Given the description of an element on the screen output the (x, y) to click on. 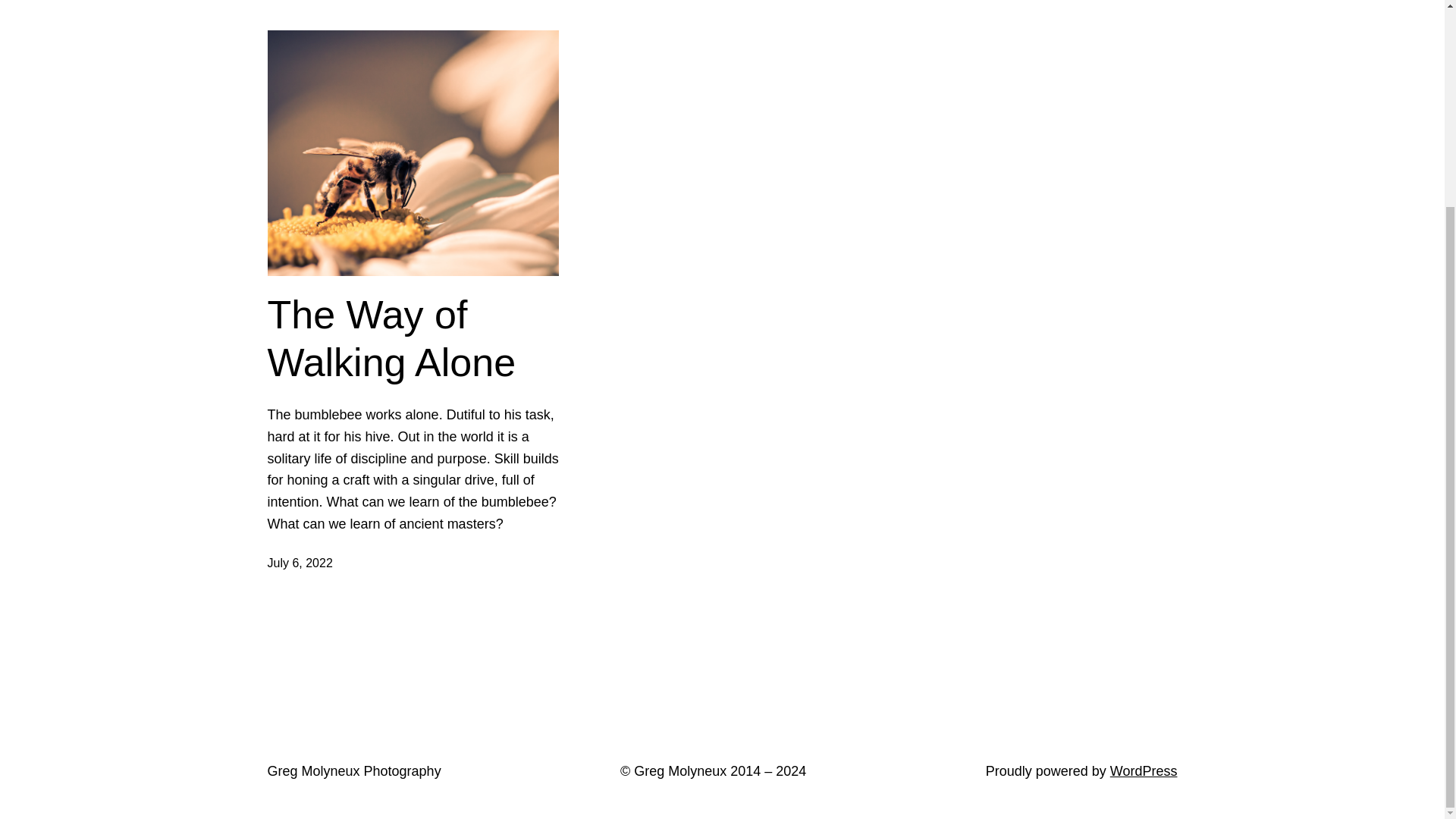
The Way of Walking Alone (412, 338)
July 6, 2022 (298, 562)
WordPress (1143, 770)
Greg Molyneux Photography (353, 770)
